Given the description of an element on the screen output the (x, y) to click on. 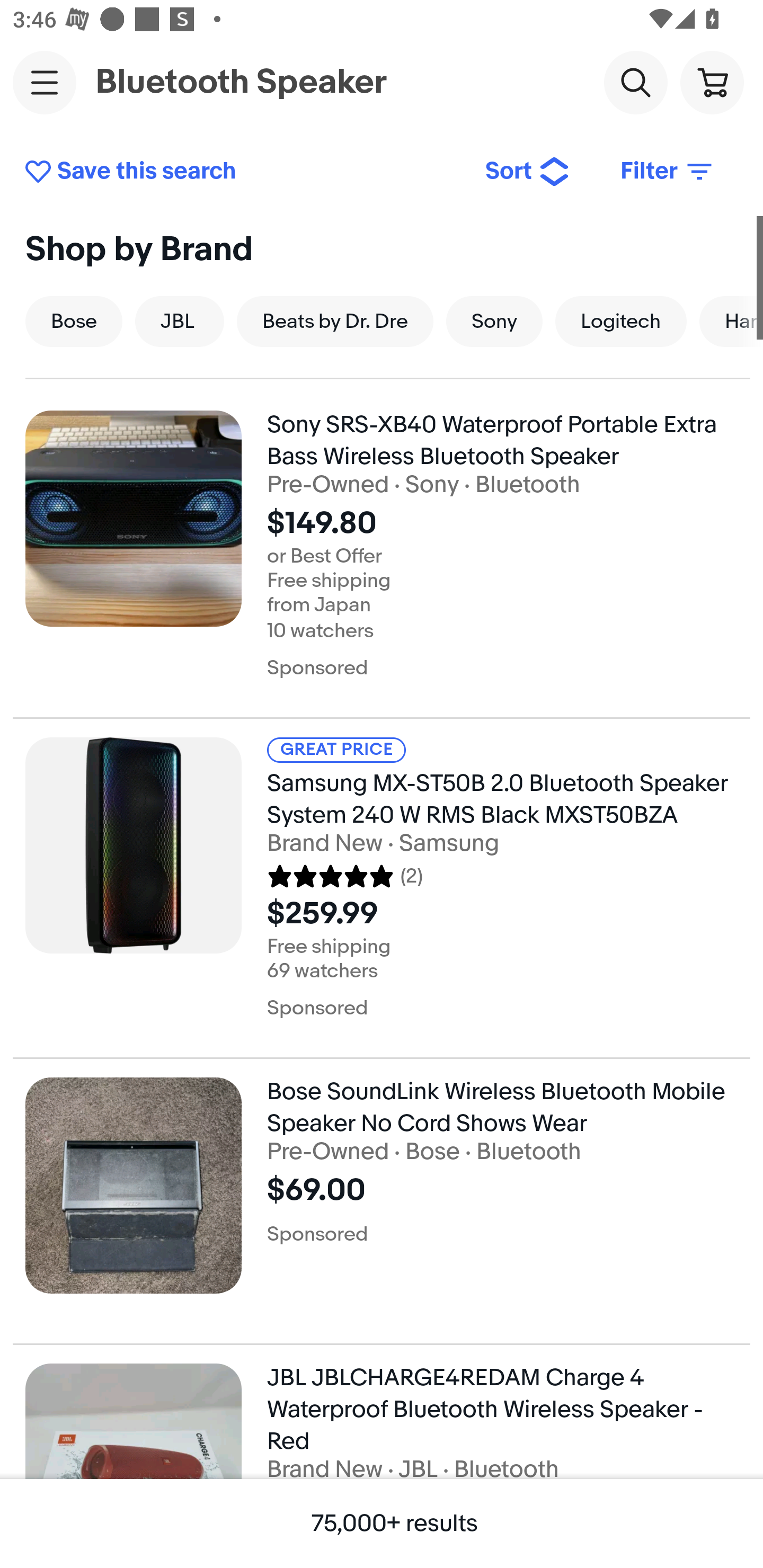
Main navigation, open (44, 82)
Search (635, 81)
Cart button shopping cart (711, 81)
Save this search (241, 171)
Sort (527, 171)
Filter (667, 171)
Bose Bose, Brand (73, 321)
JBL JBL, Brand (179, 321)
Beats by Dr. Dre Beats by Dr. Dre, Brand (334, 321)
Sony Sony, Brand (494, 321)
Logitech Logitech, Brand (620, 321)
Harman Kardon Harman Kardon, Brand (731, 321)
